Given the description of an element on the screen output the (x, y) to click on. 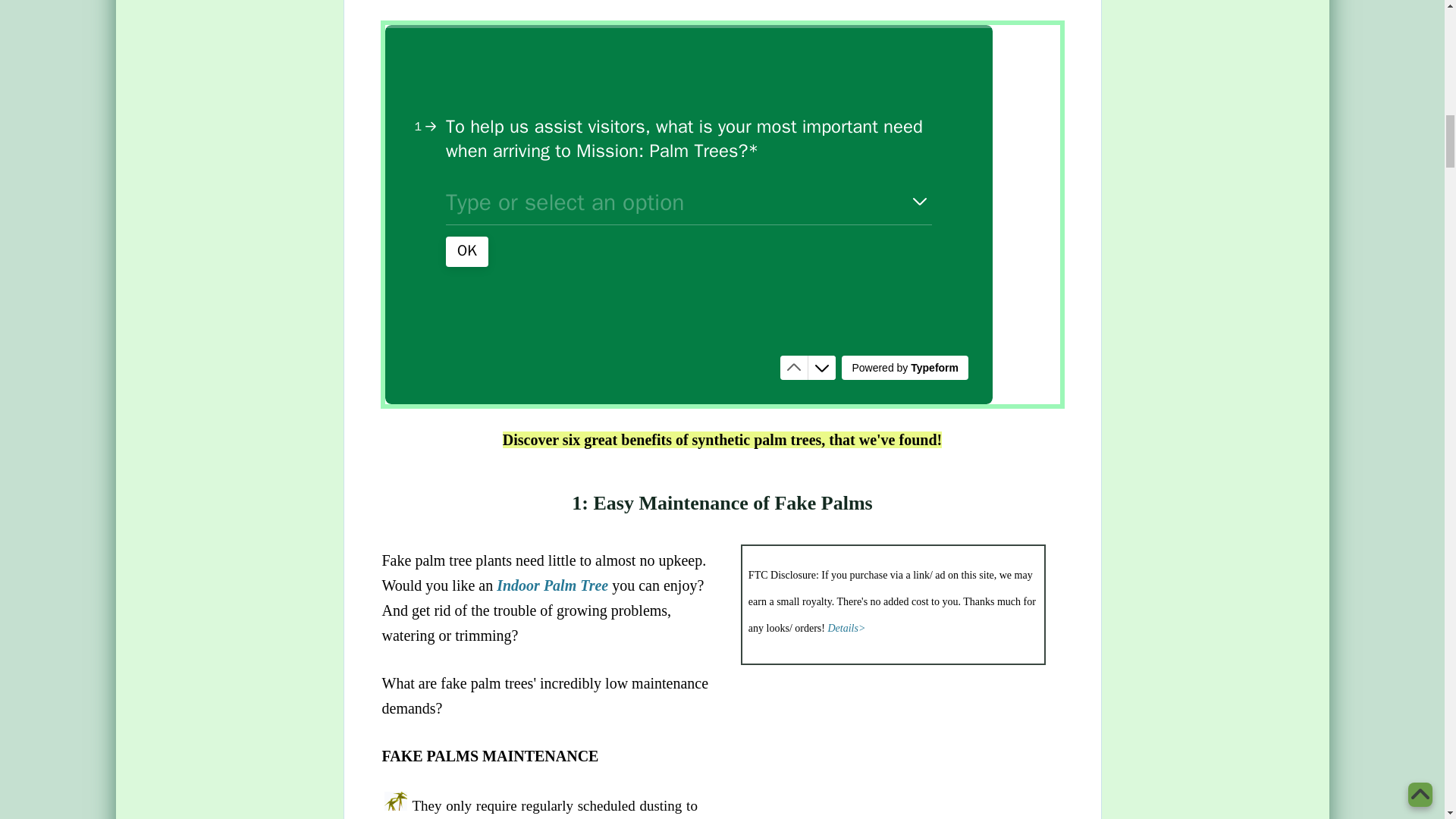
Indoor Palm Tree (552, 585)
